Given the description of an element on the screen output the (x, y) to click on. 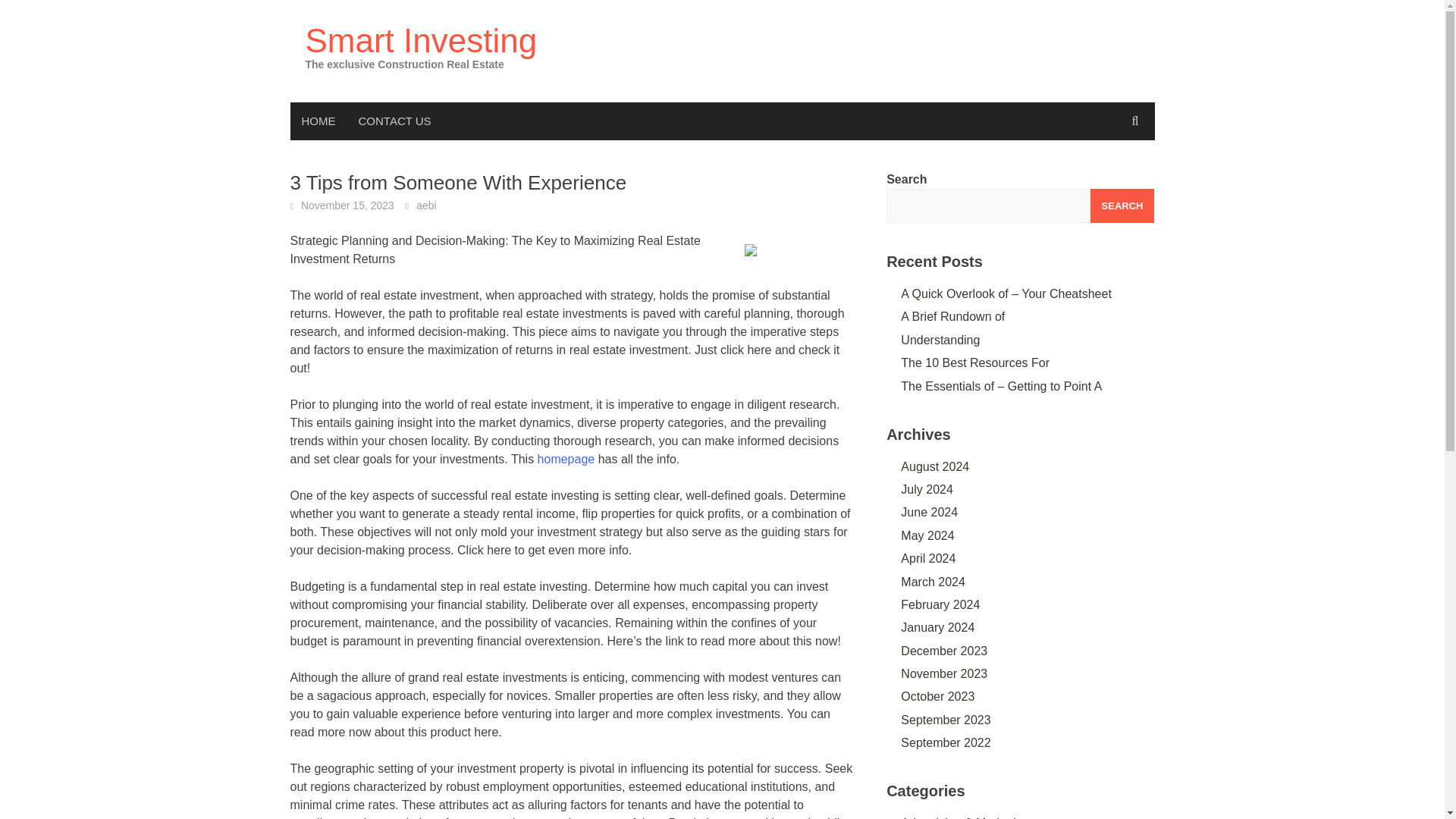
September 2023 (945, 719)
Understanding (940, 339)
Smart Investing (420, 40)
November 2023 (944, 673)
July 2024 (927, 489)
June 2024 (929, 512)
November 15, 2023 (347, 205)
homepage (566, 459)
March 2024 (933, 581)
The 10 Best Resources For (975, 362)
